Given the description of an element on the screen output the (x, y) to click on. 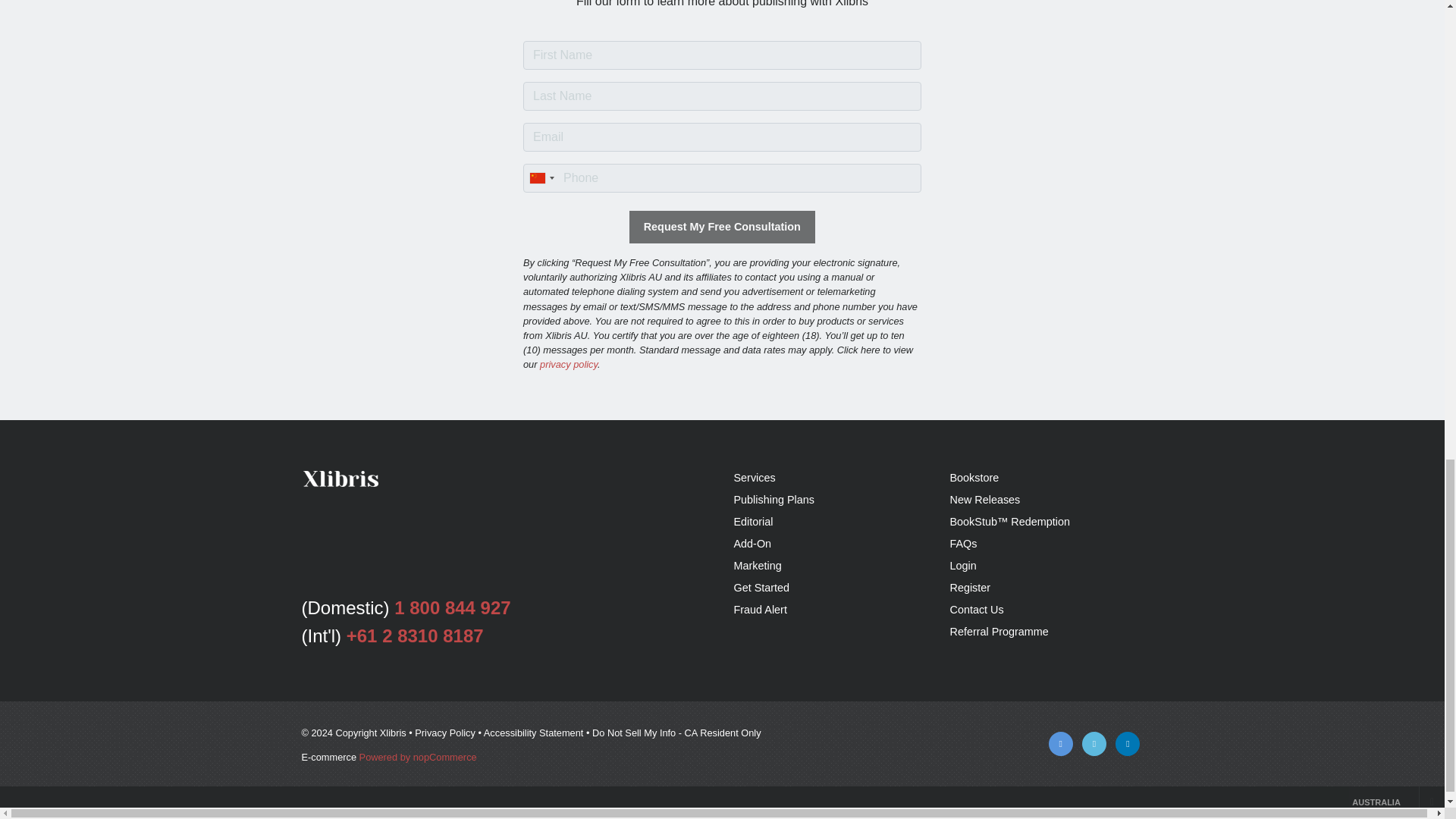
1 800 844 927 (452, 607)
Request My Free Consultation (721, 226)
Get Started (761, 587)
Add-On (752, 543)
Editorial (753, 521)
privacy policy (568, 364)
Request My Free Consultation (721, 226)
Publishing Plans (773, 499)
Services (754, 477)
Marketing (757, 565)
